Given the description of an element on the screen output the (x, y) to click on. 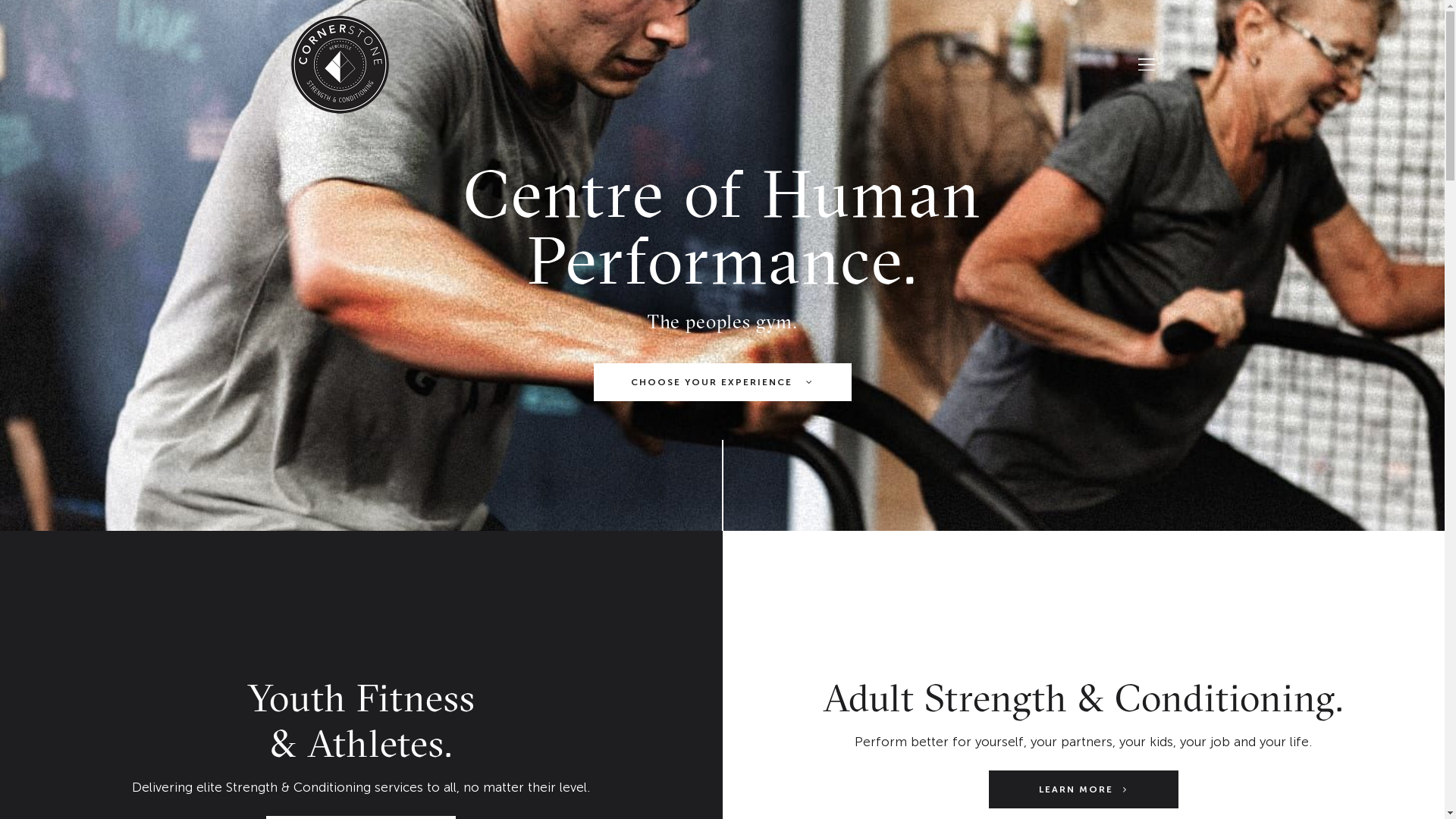
LEARN MORE Element type: text (1083, 789)
CHOOSE YOUR EXPERIENCE Element type: text (721, 382)
